Given the description of an element on the screen output the (x, y) to click on. 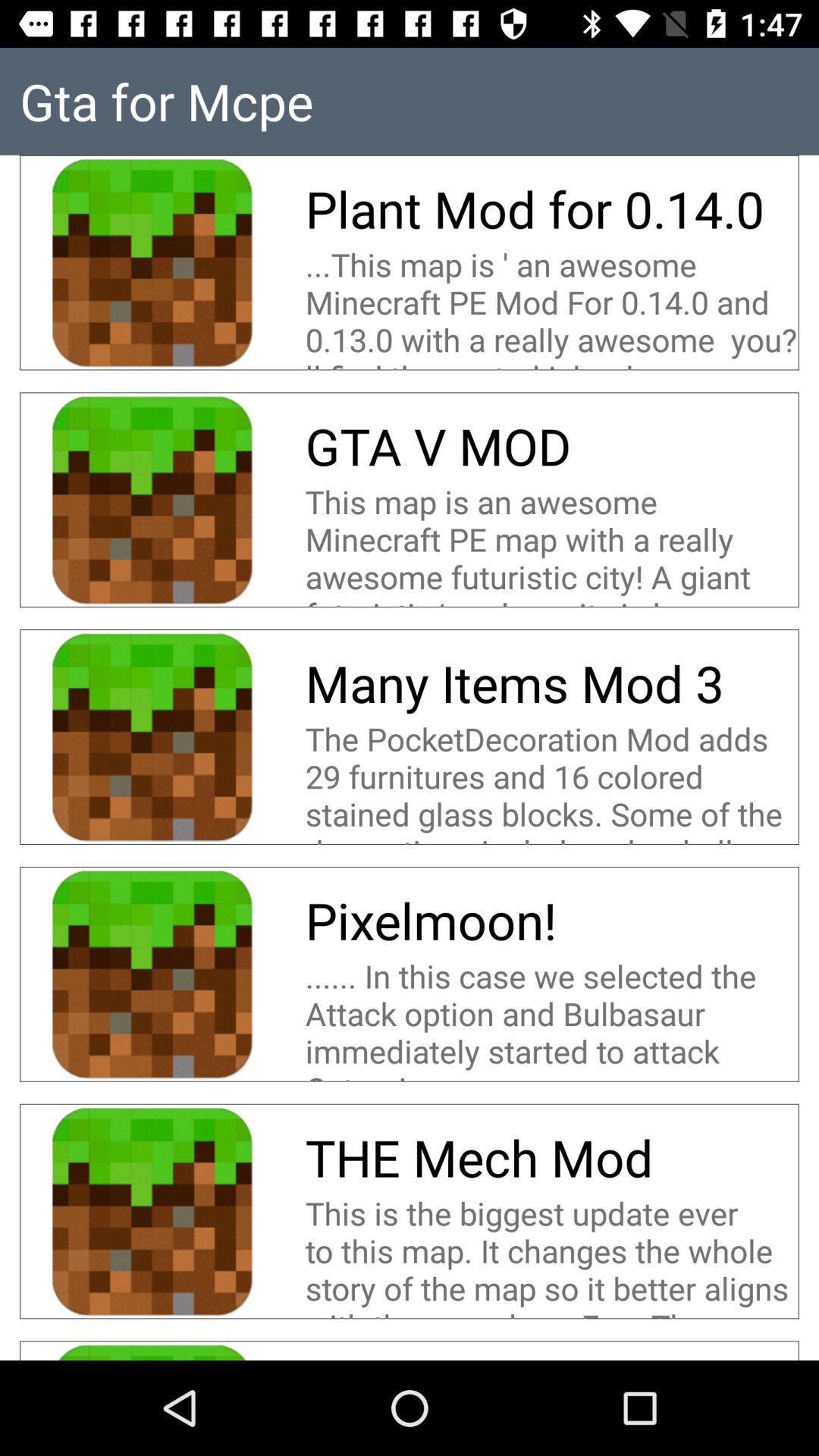
open icon above the in this case item (430, 920)
